Given the description of an element on the screen output the (x, y) to click on. 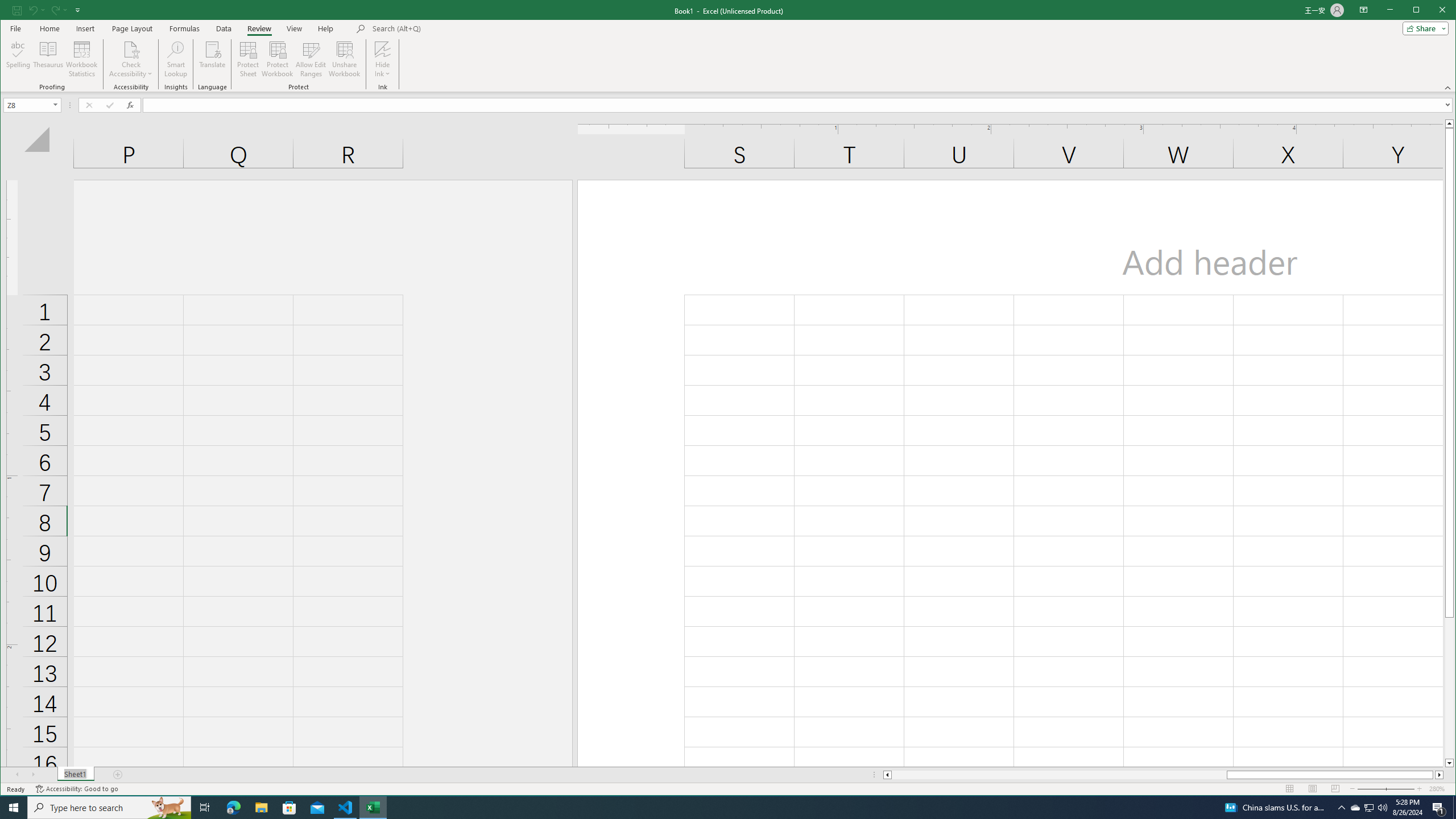
Excel - 1 running window (373, 807)
Check Accessibility (130, 59)
Scroll Left (18, 774)
Spelling... (18, 59)
Page down (1449, 687)
File Tab (15, 27)
Accessibility Checker Accessibility: Good to go (76, 788)
Column right (1439, 774)
Translate (212, 59)
Page Break Preview (1334, 788)
Hide Ink (382, 59)
Visual Studio Code - 1 running window (345, 807)
Home (49, 28)
Redo (55, 9)
Class: NetUIScrollBar (1163, 774)
